Given the description of an element on the screen output the (x, y) to click on. 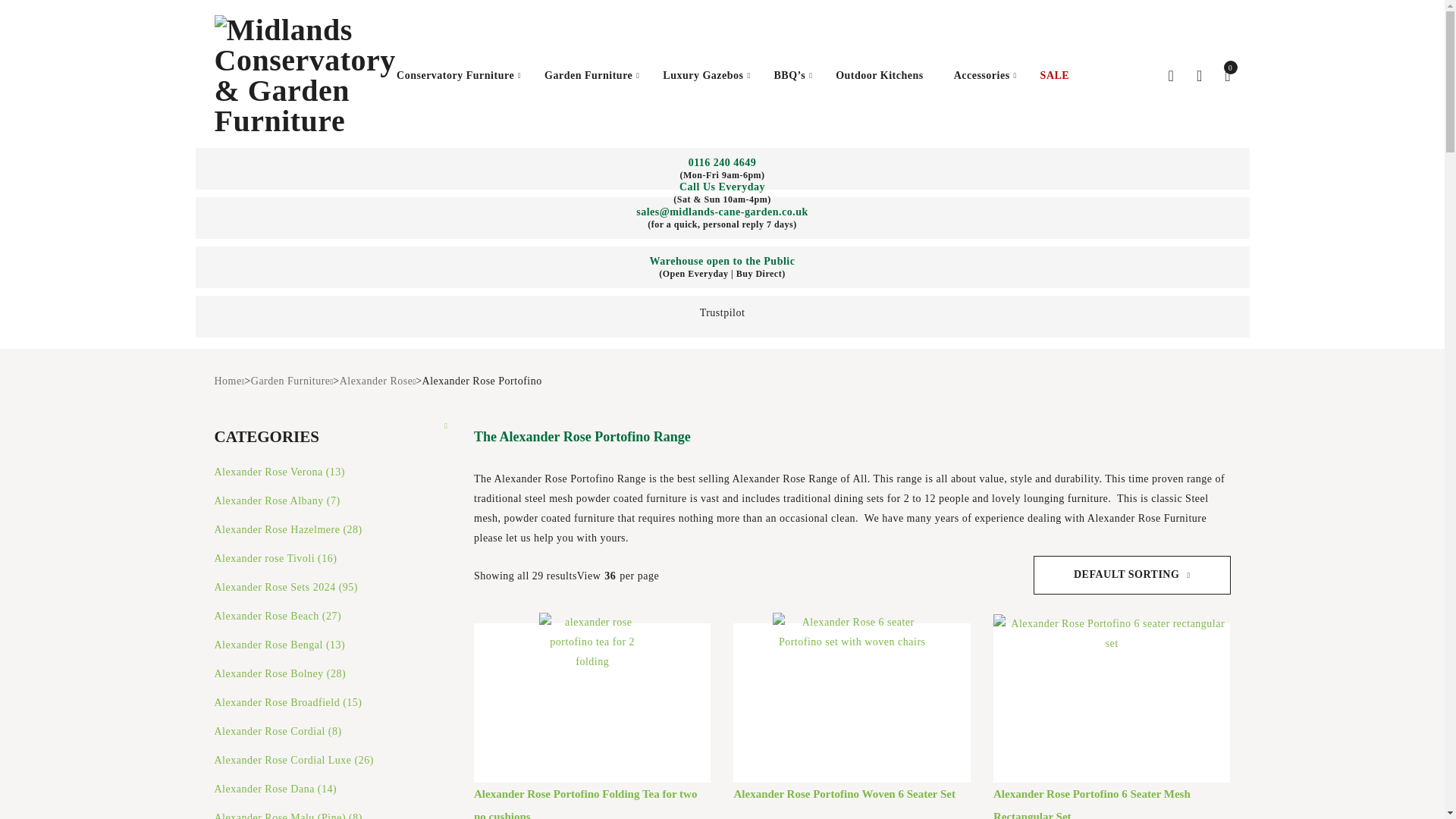
Search (1022, 178)
